Given the description of an element on the screen output the (x, y) to click on. 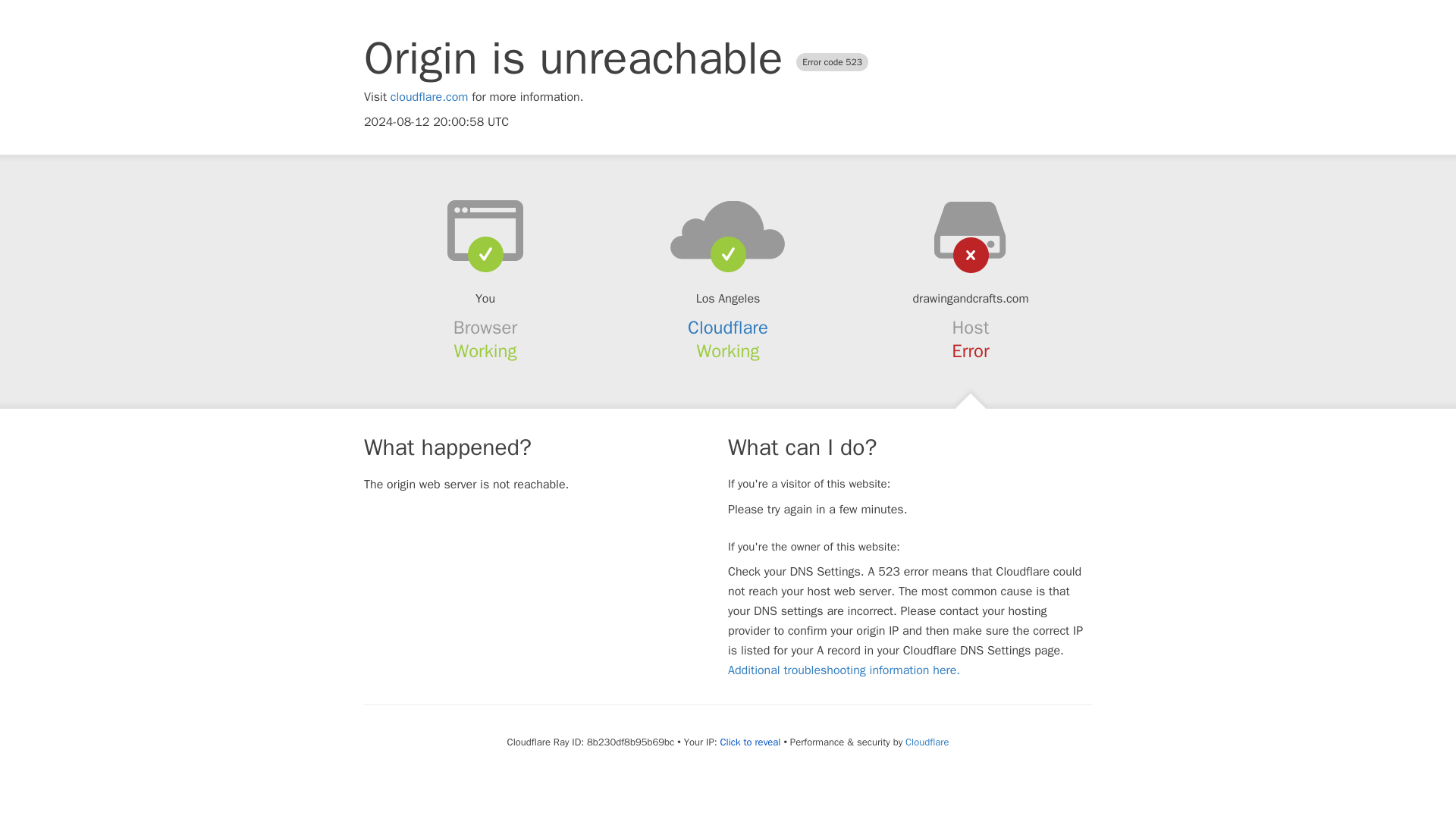
Click to reveal (750, 742)
Additional troubleshooting information here. (843, 670)
Cloudflare (927, 741)
Cloudflare (727, 327)
cloudflare.com (429, 96)
